Given the description of an element on the screen output the (x, y) to click on. 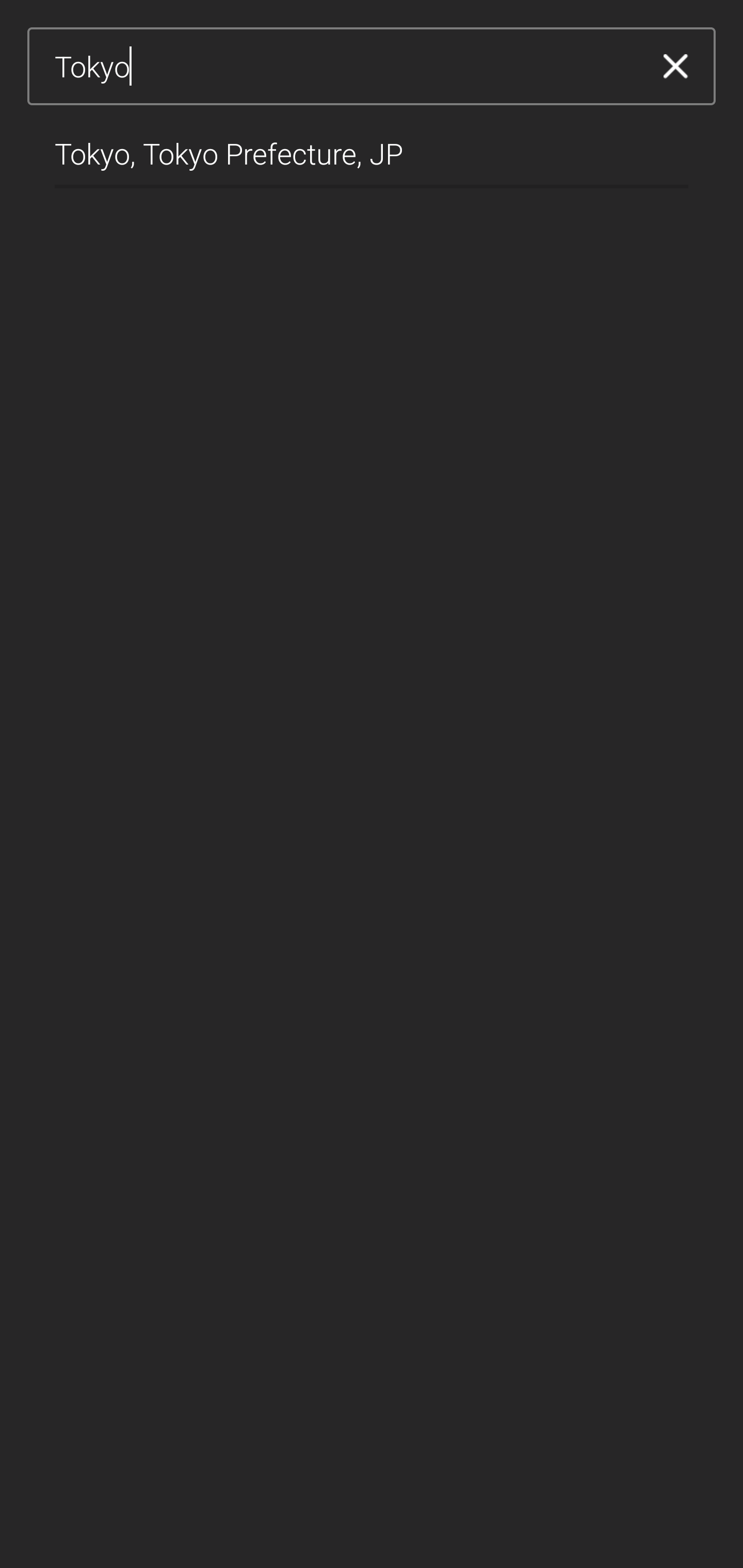
Tokyo (345, 66)
Tokyo, Tokyo Prefecture, JP (371, 146)
